Given the description of an element on the screen output the (x, y) to click on. 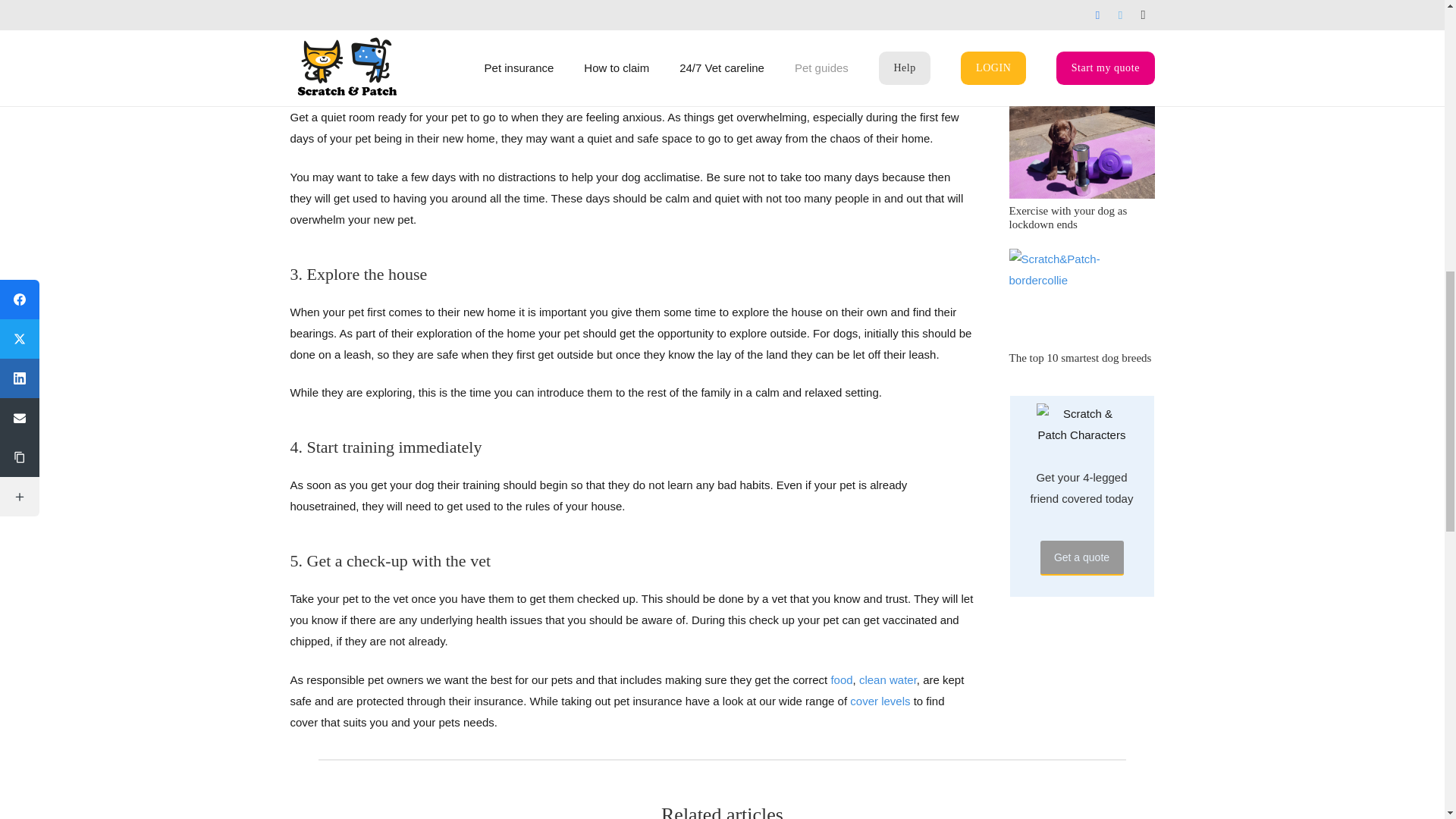
clean water (888, 679)
cover levels (880, 700)
food (840, 679)
